Given the description of an element on the screen output the (x, y) to click on. 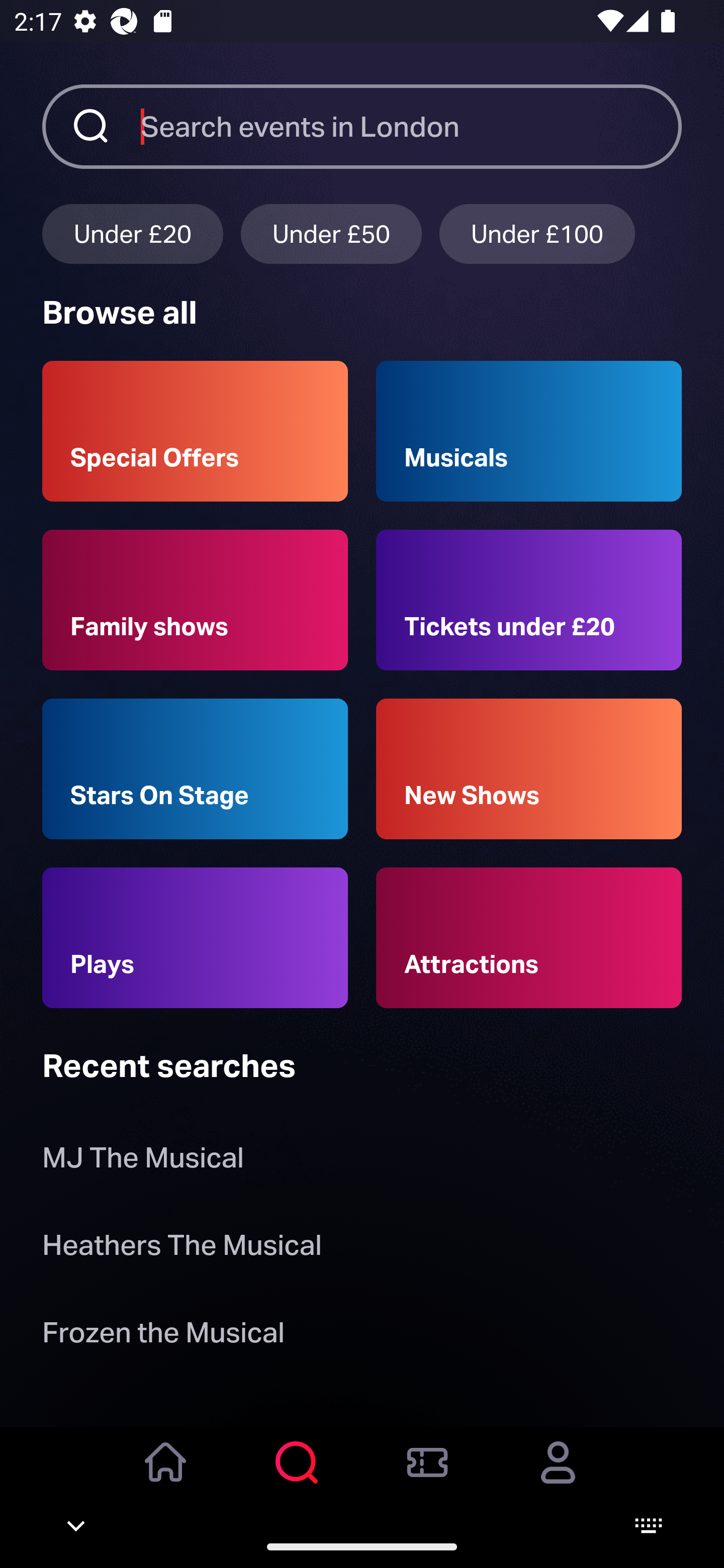
Search events in London (411, 126)
Under £20 (131, 233)
Under £50 (331, 233)
Under £100 (536, 233)
Special Offers (194, 430)
Musicals (528, 430)
Family shows (194, 600)
Tickets under £20  (528, 600)
Stars On Stage (194, 768)
New Shows (528, 768)
Plays (194, 937)
Attractions  (528, 937)
MJ The Musical  (145, 1161)
Heathers The Musical (181, 1248)
Frozen the Musical (162, 1335)
Home (165, 1475)
Orders (427, 1475)
Account (558, 1475)
